Given the description of an element on the screen output the (x, y) to click on. 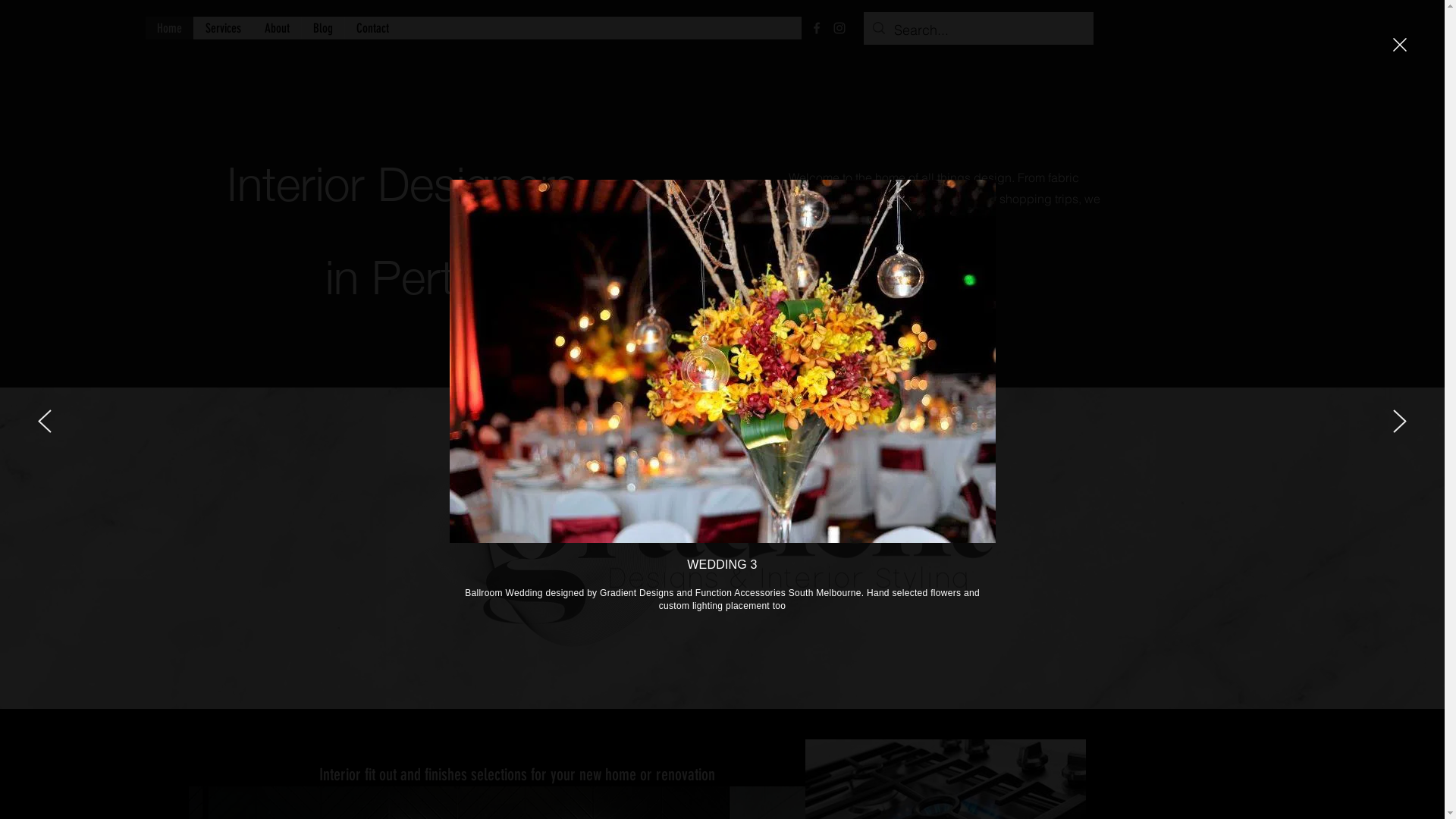
updated-gradient-logo.png Element type: hover (705, 543)
Blog Element type: text (321, 27)
Contact Element type: text (372, 27)
About Element type: text (275, 27)
Services Element type: text (221, 27)
Home Element type: text (169, 27)
